Given the description of an element on the screen output the (x, y) to click on. 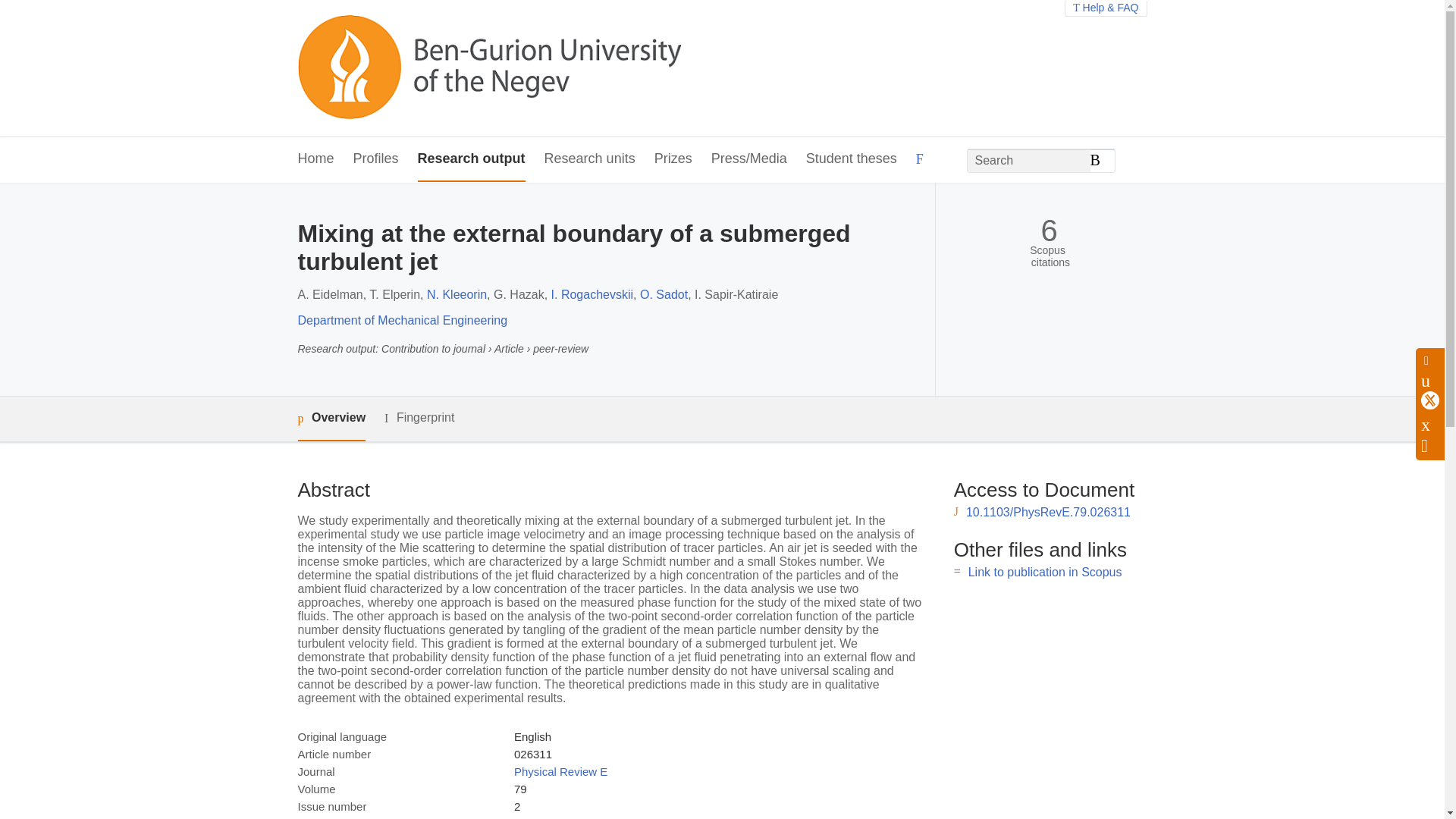
O. Sadot (663, 294)
Link to publication in Scopus (1045, 571)
Physical Review E (560, 771)
Student theses (851, 159)
N. Kleeorin (456, 294)
I. Rogachevskii (592, 294)
Research units (589, 159)
Research output (471, 159)
Ben-Gurion University Research Portal Home (489, 68)
Overview (331, 418)
Profiles (375, 159)
Department of Mechanical Engineering (401, 319)
Fingerprint (419, 417)
